Given the description of an element on the screen output the (x, y) to click on. 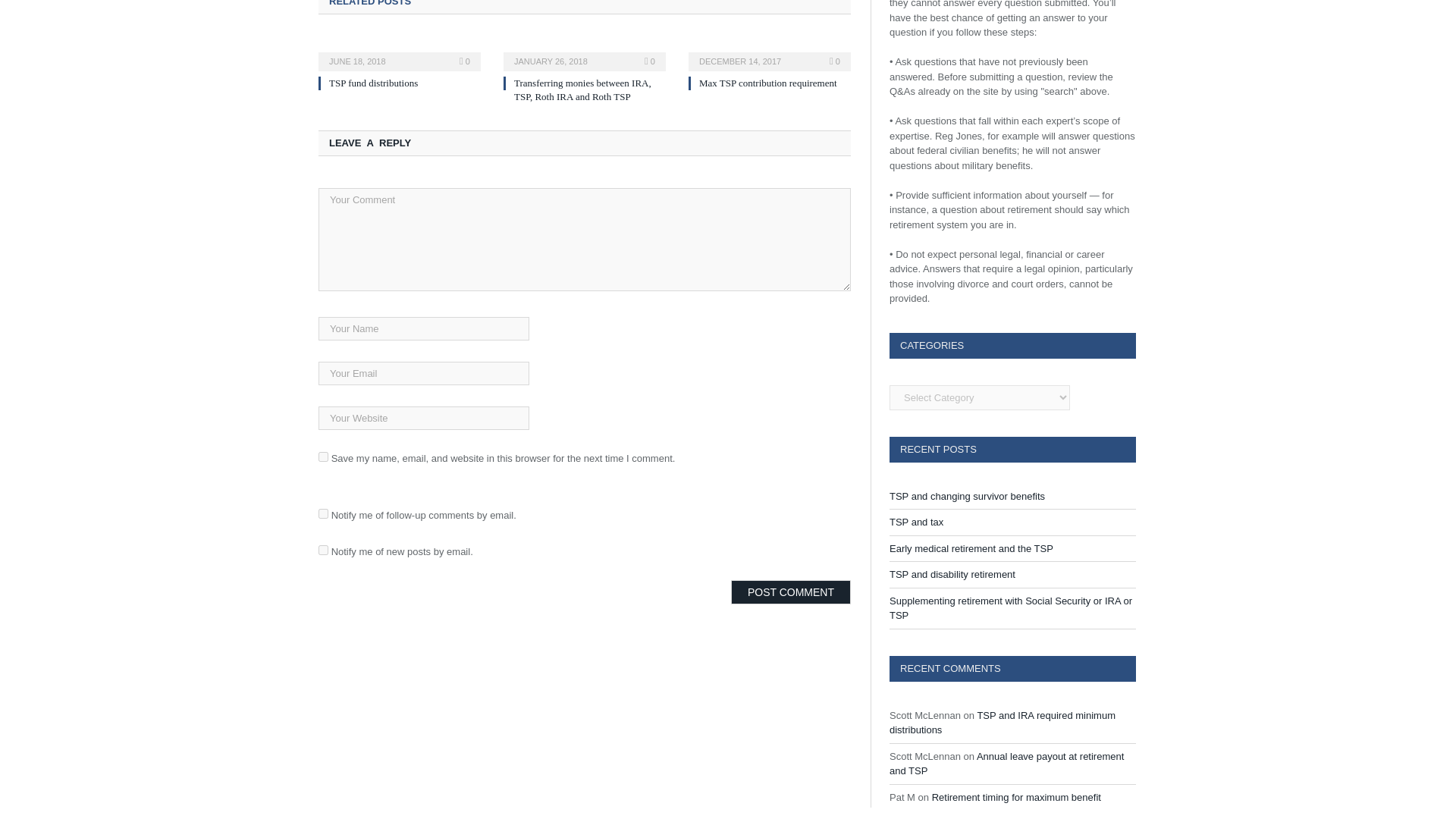
TSP fund distributions (373, 82)
yes (323, 456)
Post Comment (790, 591)
subscribe (323, 549)
subscribe (323, 513)
